Given the description of an element on the screen output the (x, y) to click on. 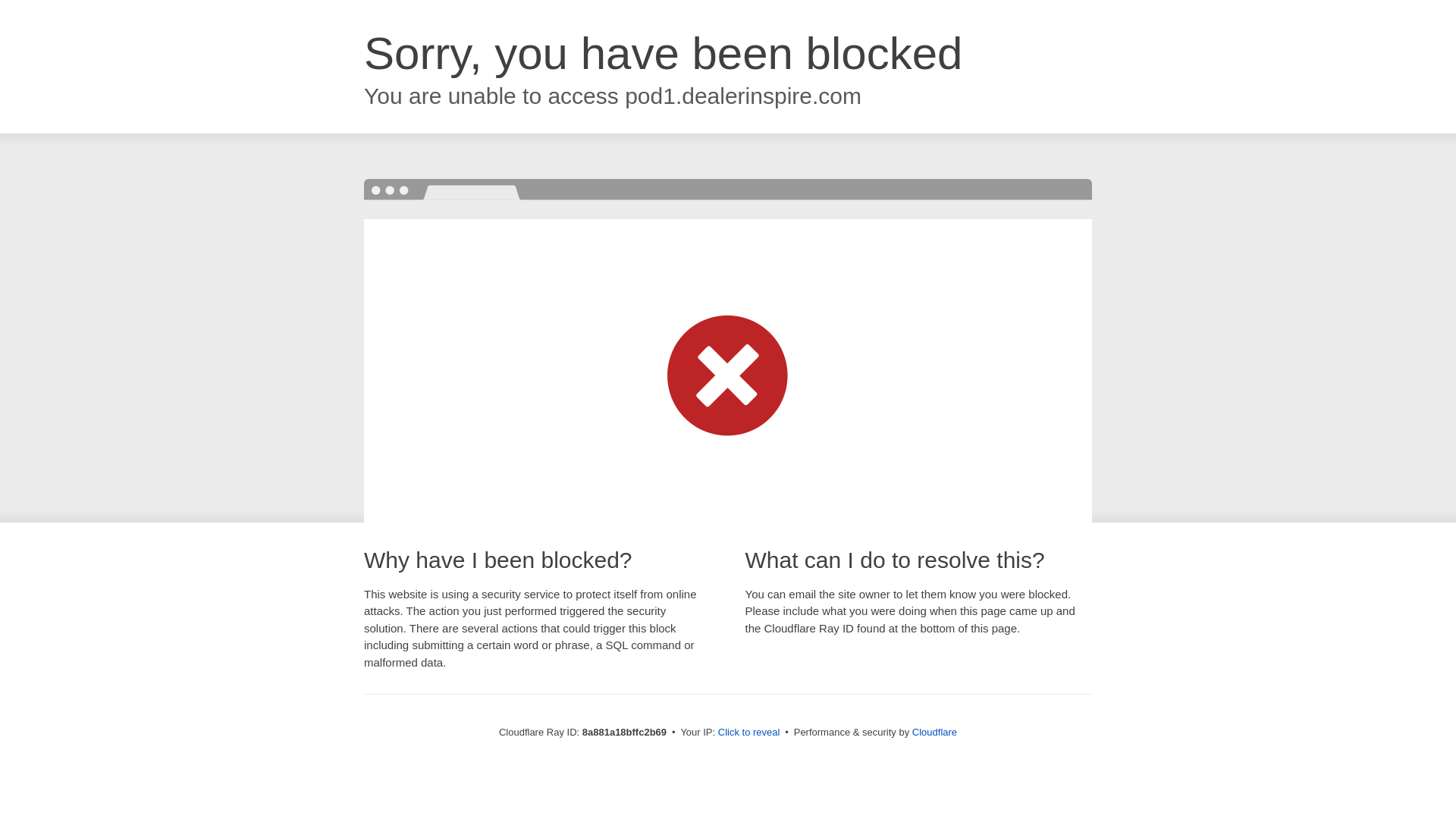
Cloudflare (934, 731)
Click to reveal (748, 732)
